Given the description of an element on the screen output the (x, y) to click on. 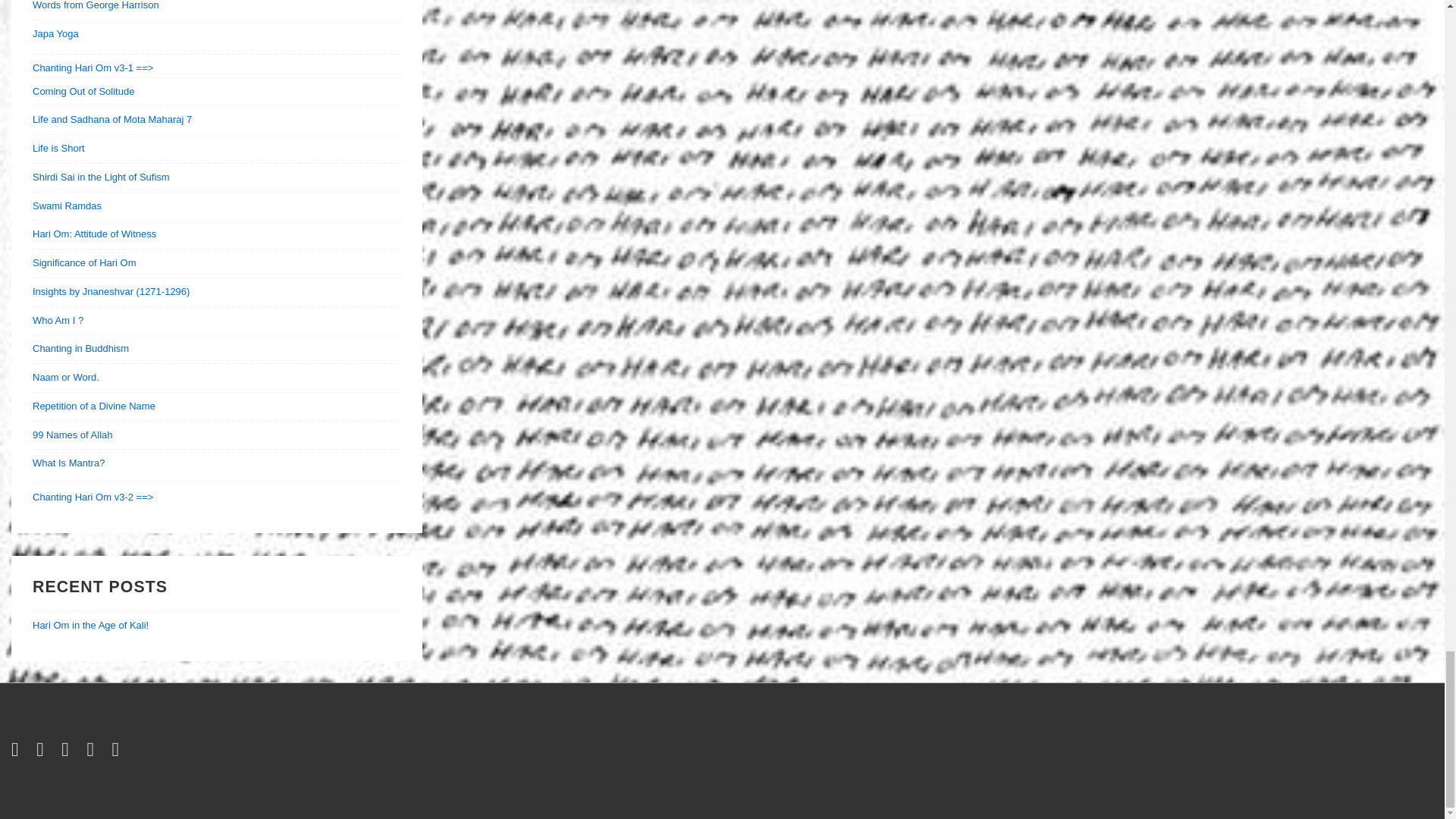
pinterest (117, 752)
twitter (17, 752)
youtube (92, 752)
facebook (42, 752)
linkedin (68, 752)
